Given the description of an element on the screen output the (x, y) to click on. 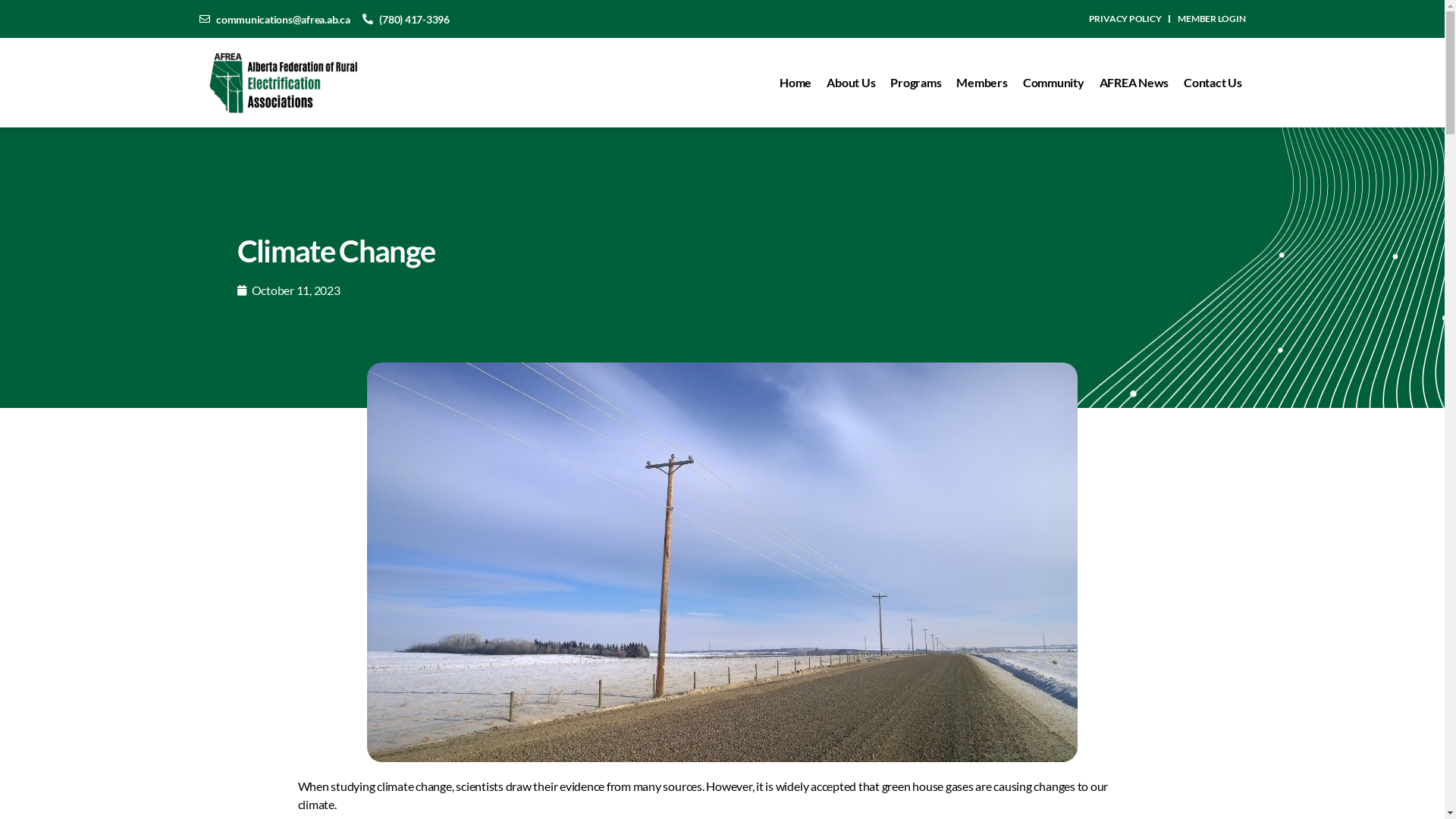
Community Element type: text (1053, 82)
MEMBER LOGIN Element type: text (1211, 18)
About Us Element type: text (850, 82)
communications@afrea.ab.ca Element type: text (273, 18)
October 11, 2023 Element type: text (287, 290)
AFREA News Element type: text (1134, 82)
(780) 417-3396 Element type: text (405, 18)
Programs Element type: text (915, 82)
Members Element type: text (981, 82)
Contact Us Element type: text (1212, 82)
Home Element type: text (795, 82)
PRIVACY POLICY Element type: text (1124, 18)
